Given the description of an element on the screen output the (x, y) to click on. 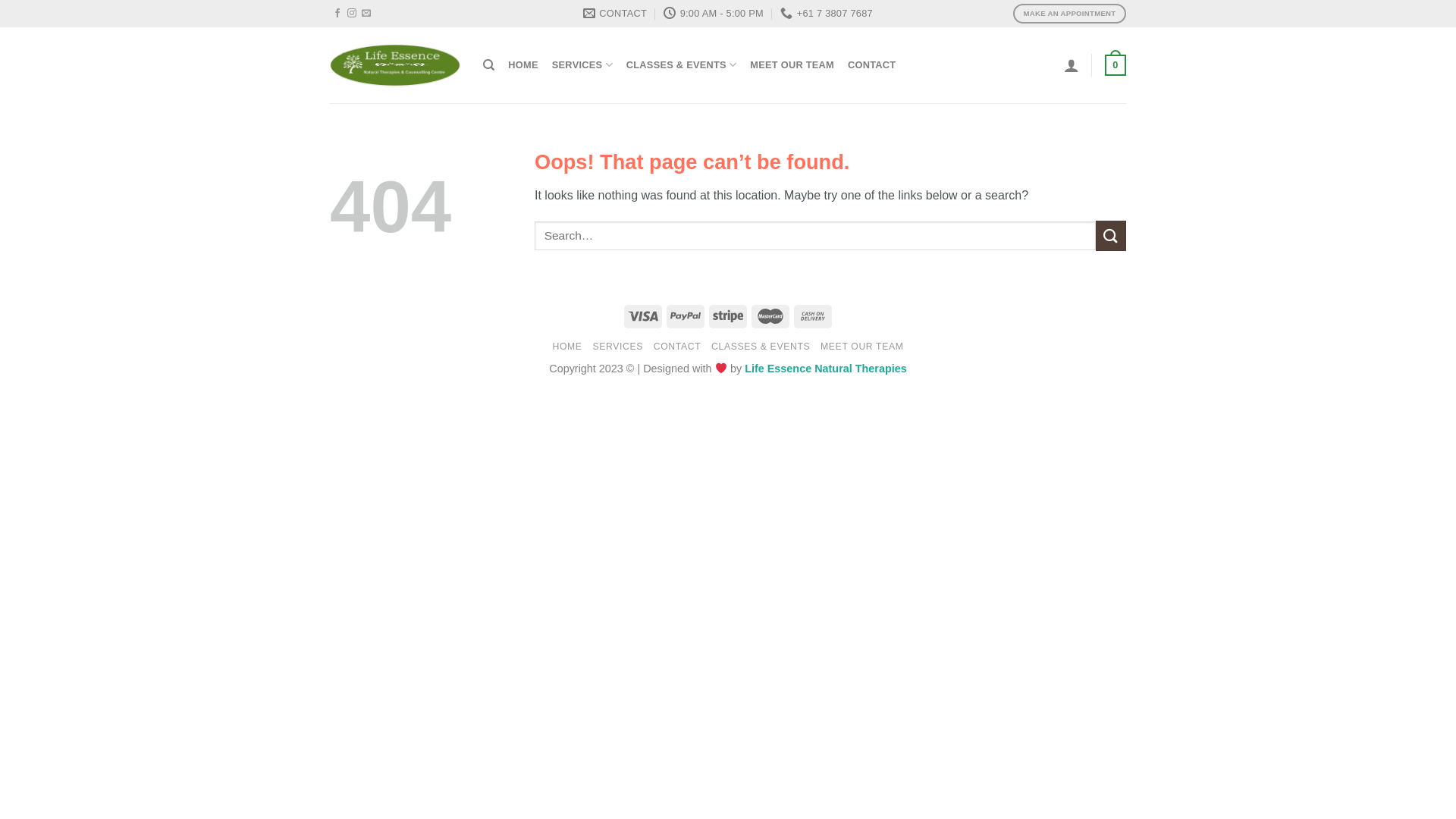
Life Essence Natural Therapies Element type: text (825, 368)
SERVICES Element type: text (582, 64)
CLASSES & EVENTS Element type: text (681, 64)
CONTACT Element type: text (677, 346)
SERVICES Element type: text (617, 346)
CONTACT Element type: text (871, 64)
CLASSES & EVENTS Element type: text (760, 346)
HOME Element type: text (522, 64)
9:00 AM - 5:00 PM Element type: text (713, 13)
MAKE AN APPOINTMENT Element type: text (1069, 12)
0 Element type: text (1115, 64)
HOME Element type: text (566, 346)
+61 7 3807 7687 Element type: text (826, 13)
MEET OUR TEAM Element type: text (791, 64)
MEET OUR TEAM Element type: text (861, 346)
CONTACT Element type: text (614, 13)
Life Essence - Natural Therapies & Counselling Centre Element type: hover (394, 65)
